Given the description of an element on the screen output the (x, y) to click on. 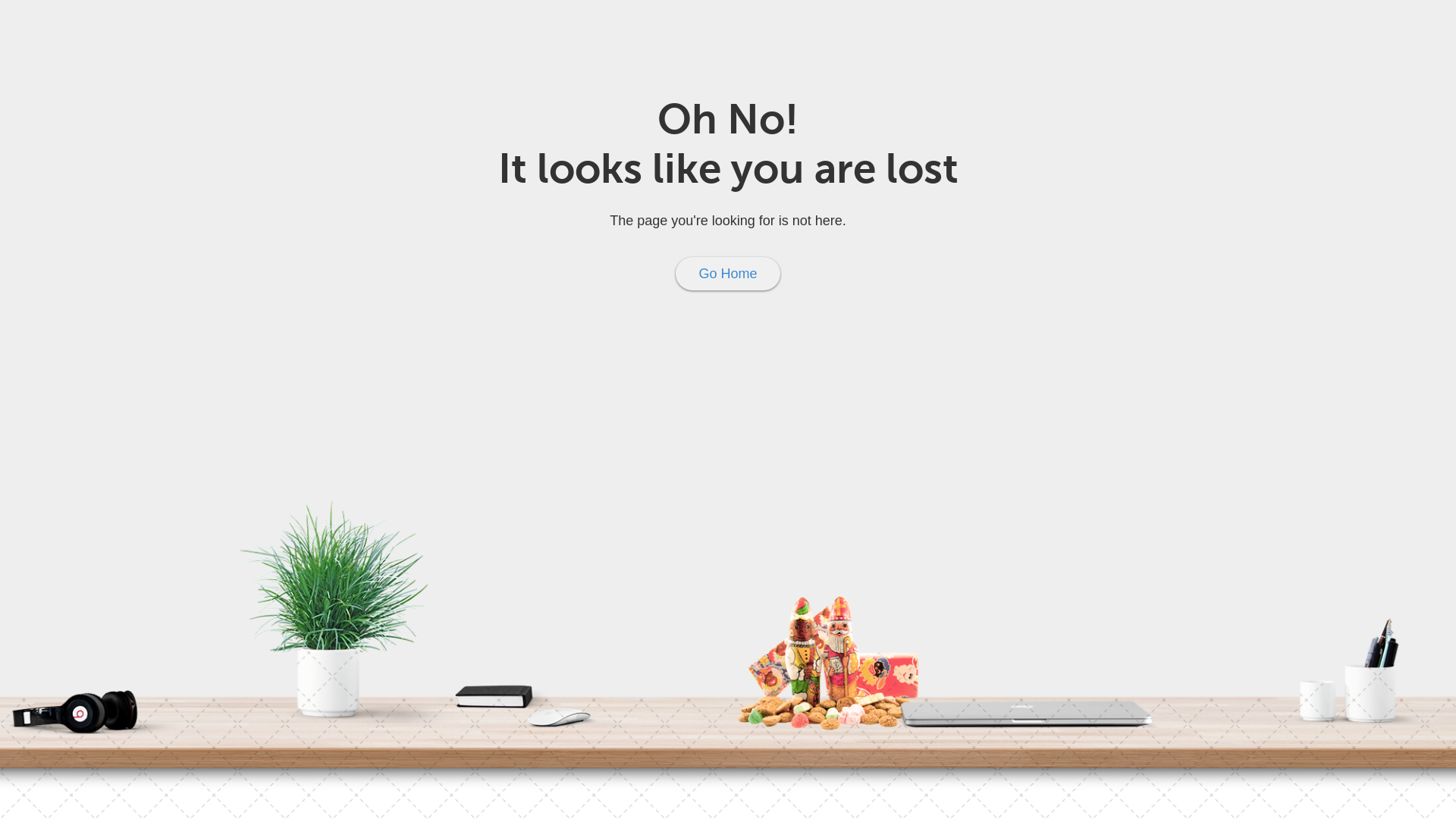
Go Home Element type: text (727, 273)
